Given the description of an element on the screen output the (x, y) to click on. 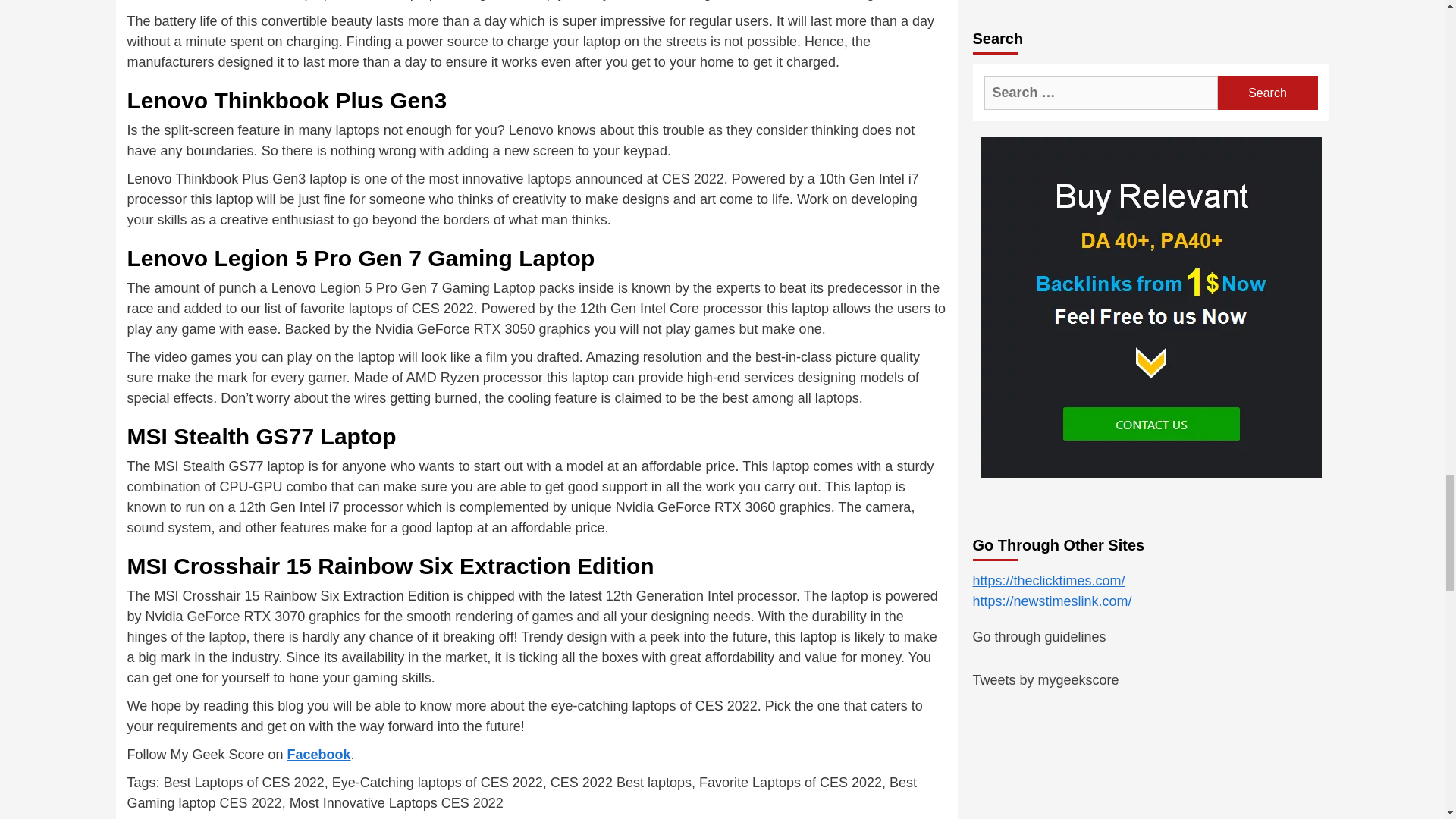
Facebook (318, 754)
